Given the description of an element on the screen output the (x, y) to click on. 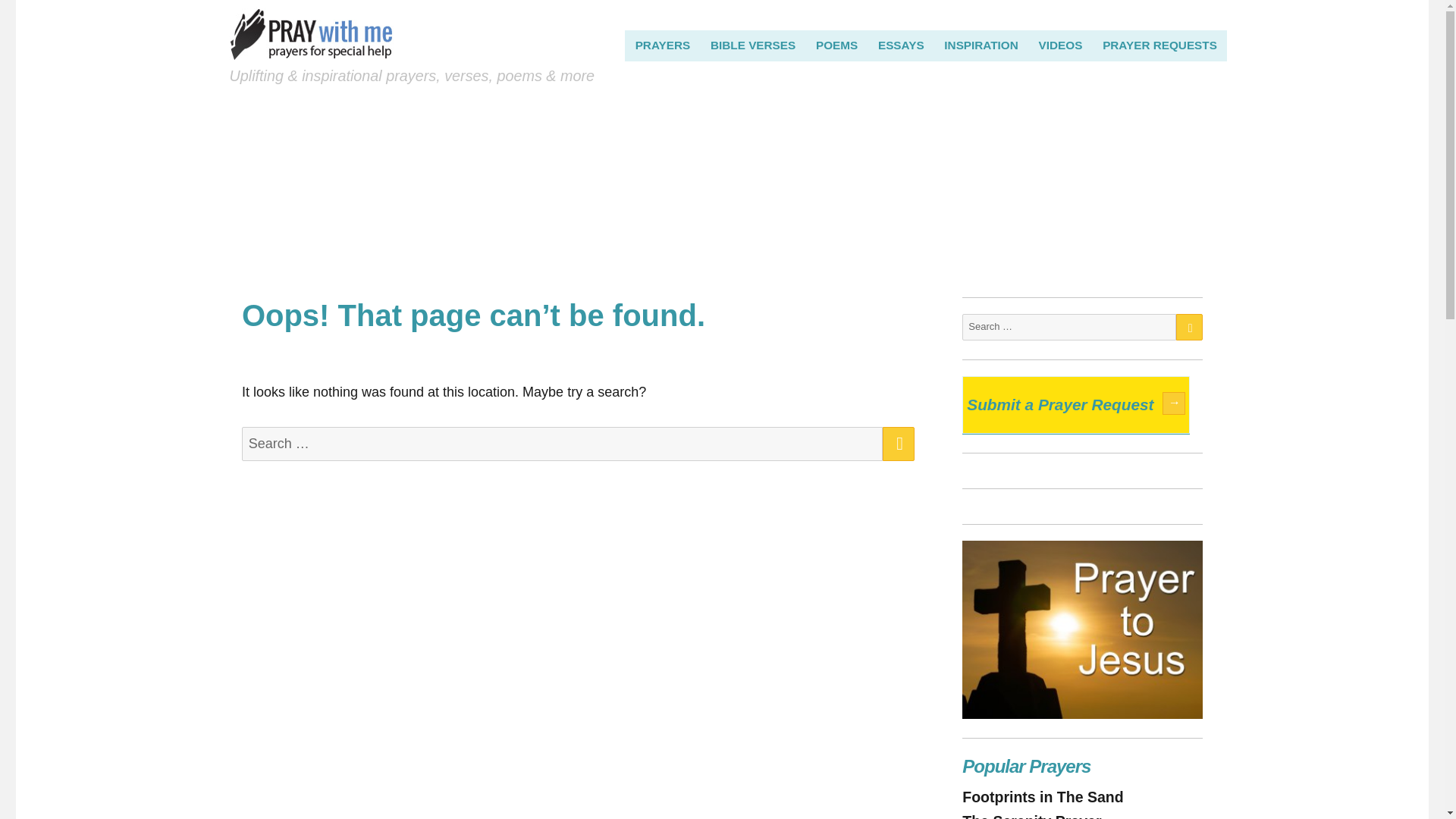
POEMS (836, 45)
ESSAYS (900, 45)
BIBLE VERSES (753, 45)
Footprints in The Sand (1042, 796)
INSPIRATION (980, 45)
VIDEOS (1060, 45)
PRAYERS (662, 45)
PRAYER REQUESTS (1160, 45)
SEARCH (898, 443)
The Serenity Prayer (1031, 816)
